Given the description of an element on the screen output the (x, y) to click on. 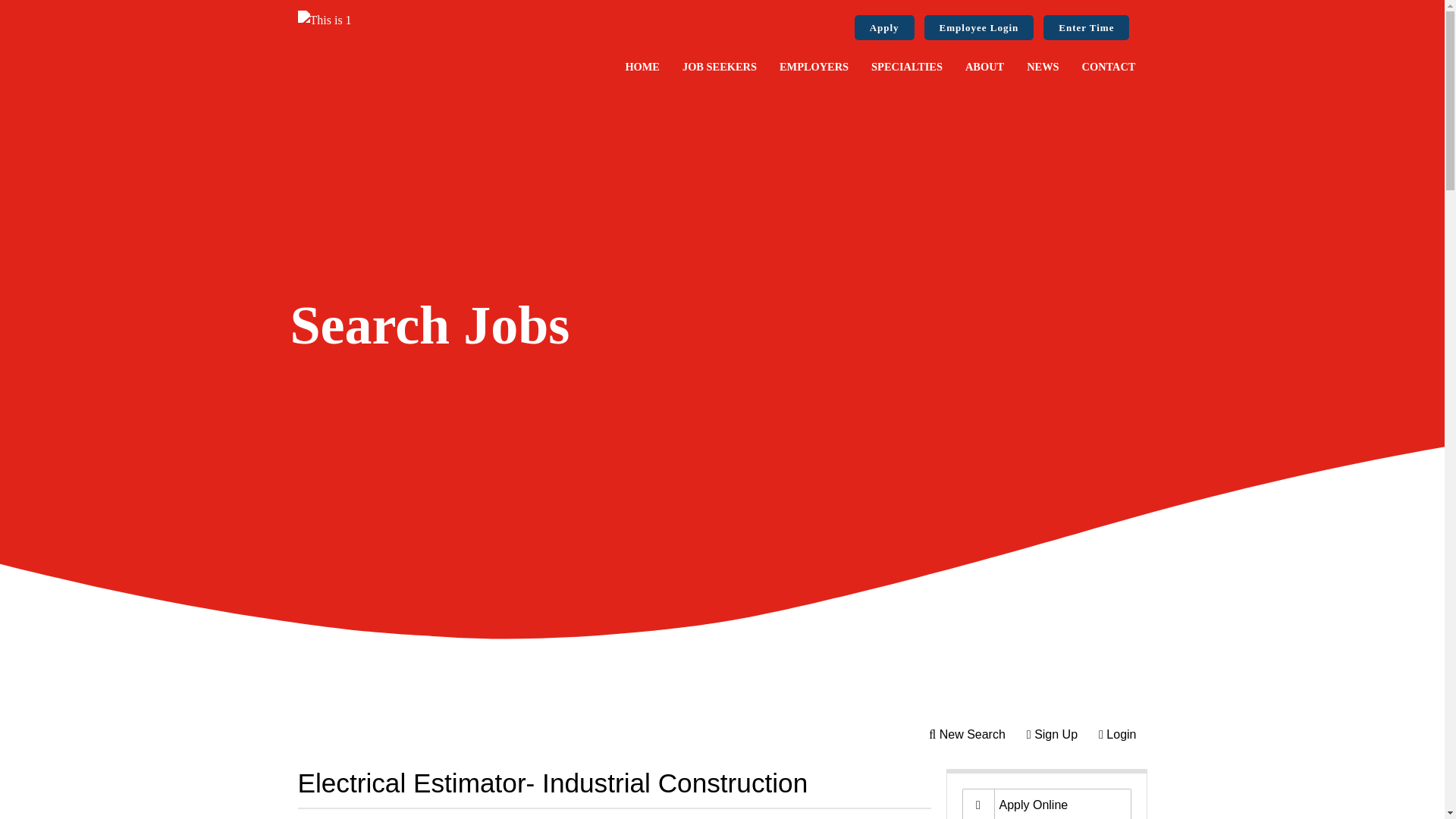
HOME (641, 66)
Enter Time (1086, 27)
Apply (884, 27)
ABOUT (983, 66)
JOB SEEKERS (719, 66)
NEWS (1042, 66)
EMPLOYERS (814, 66)
CONTACT (1108, 66)
Employee Login (978, 27)
SPECIALTIES (906, 66)
